Given the description of an element on the screen output the (x, y) to click on. 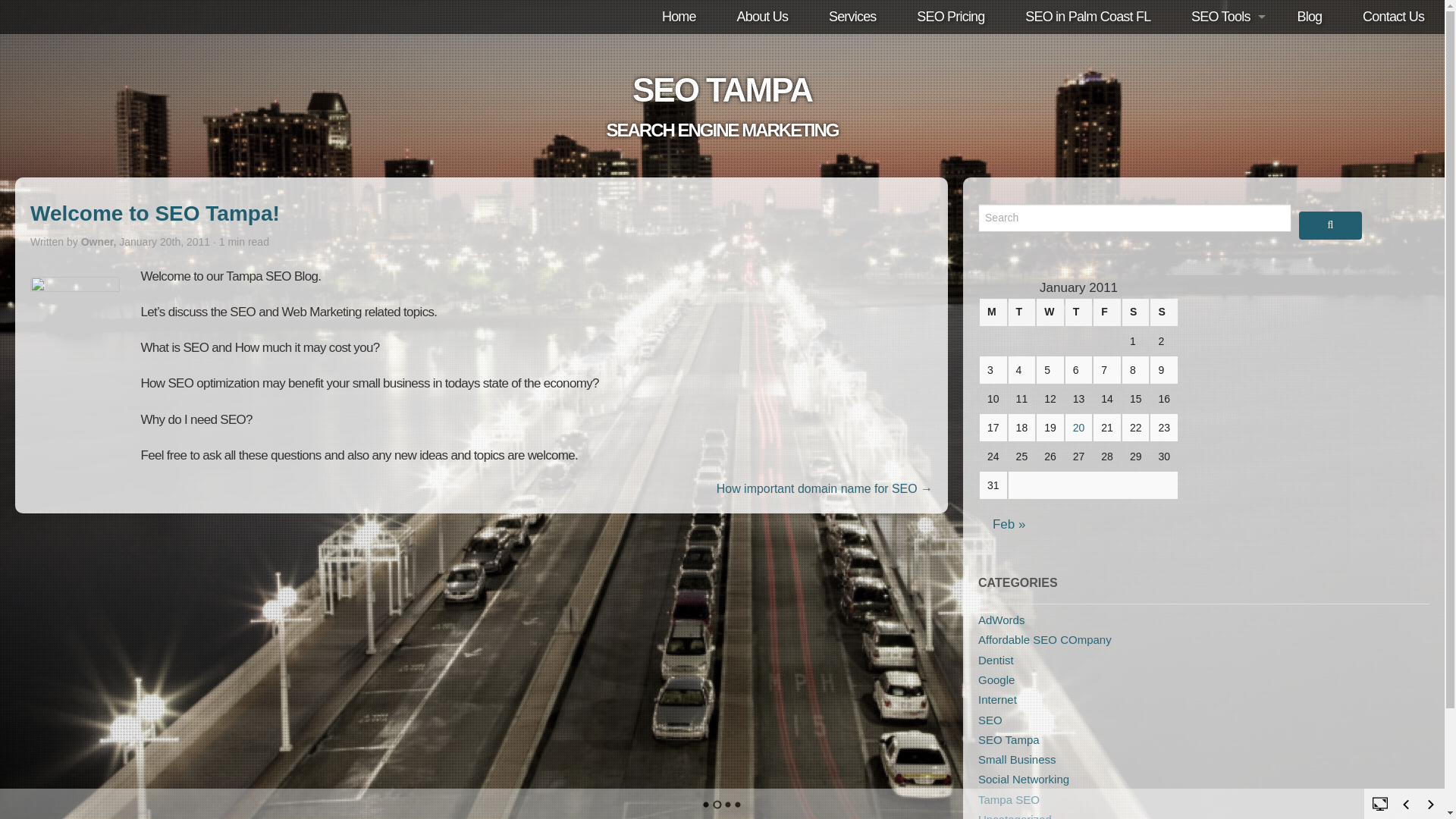
Owner, (100, 241)
SEO Pricing (950, 16)
AdWords (1001, 619)
20 (1078, 427)
Google (996, 679)
SEO Tools (1223, 16)
SEO TAMPA (721, 89)
Friday (1107, 311)
Saturday (1136, 311)
Tuesday (1022, 311)
SEO Tampa (1008, 739)
SEO Tampa (721, 89)
Monday (993, 311)
Internet (997, 698)
toggle (1380, 802)
